Given the description of an element on the screen output the (x, y) to click on. 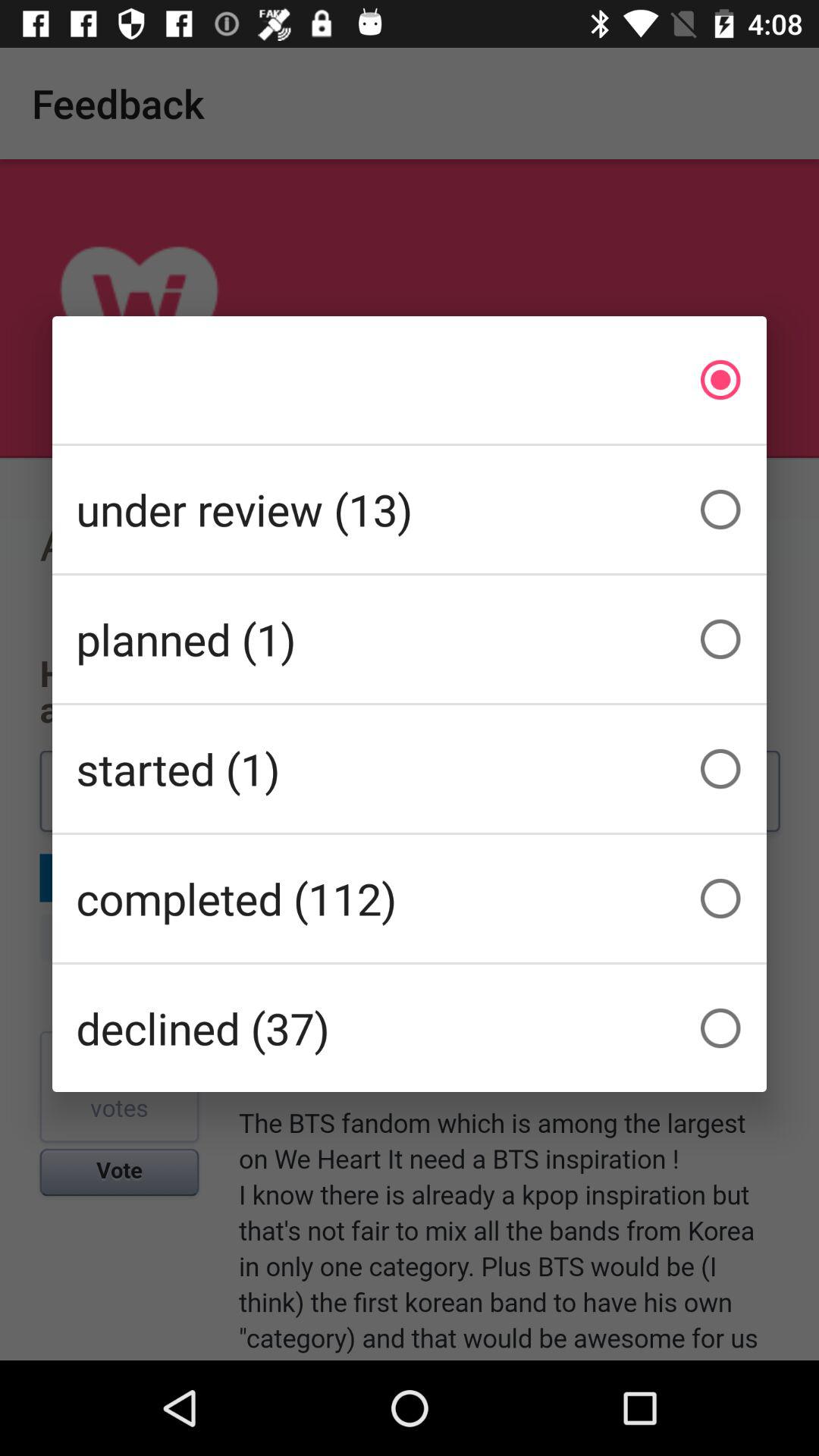
choose the started (1) (409, 768)
